Given the description of an element on the screen output the (x, y) to click on. 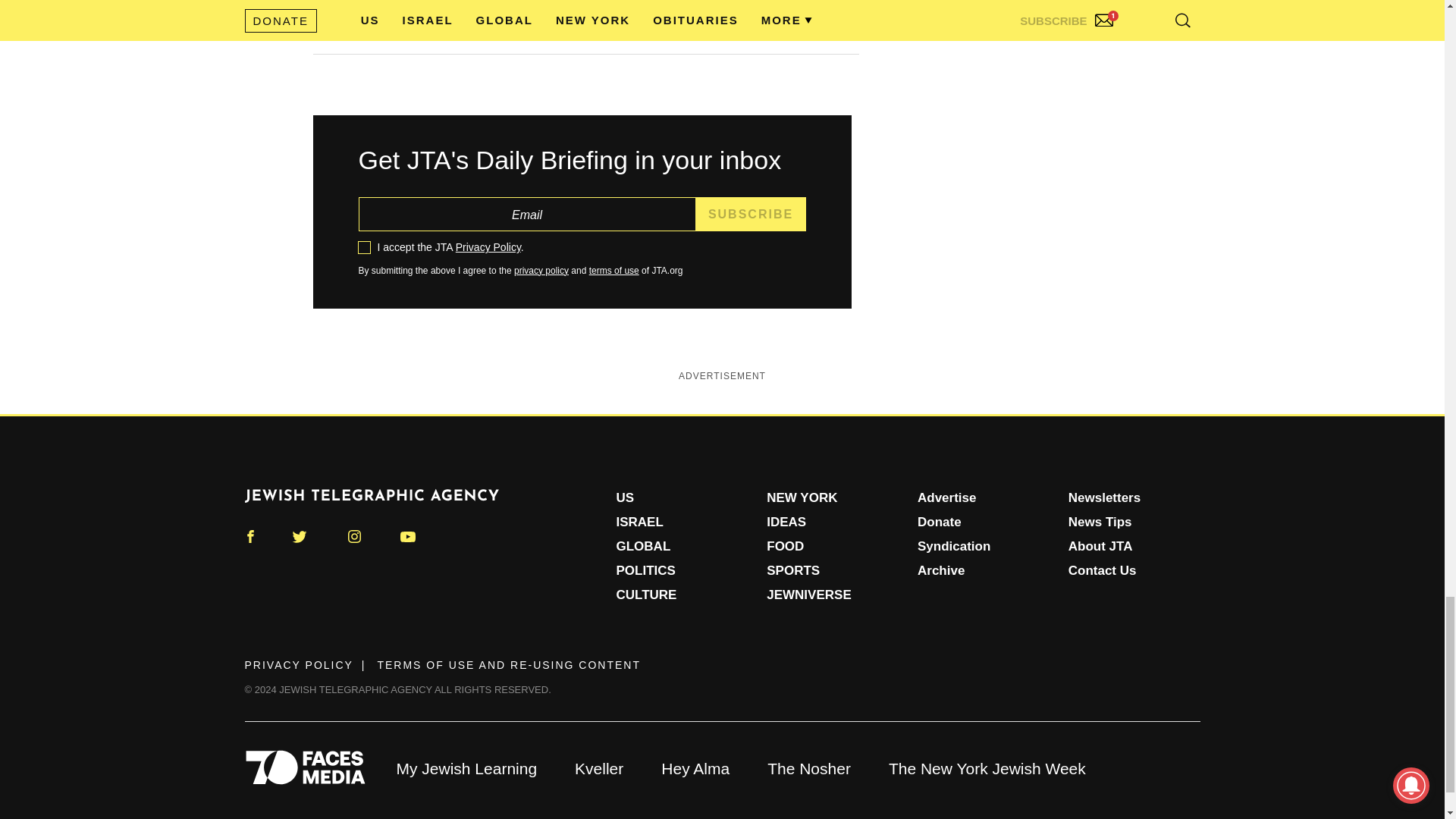
Subscribe (750, 213)
